Given the description of an element on the screen output the (x, y) to click on. 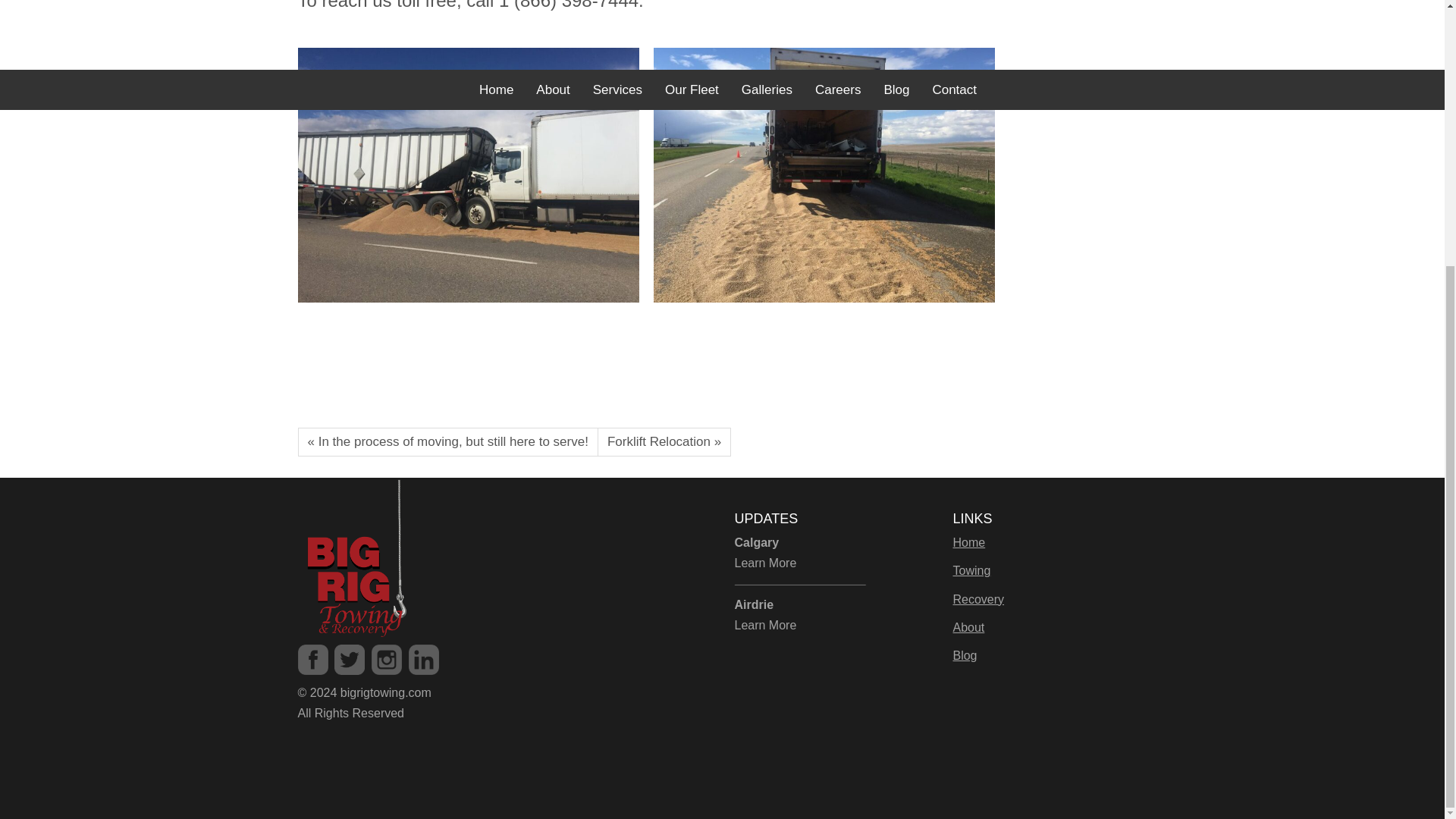
Home (968, 542)
Recovery (978, 599)
In the process of moving, but still here to serve! (446, 441)
About (968, 626)
Forklift Relocation (663, 441)
Towing (971, 570)
Blog (964, 655)
